Given the description of an element on the screen output the (x, y) to click on. 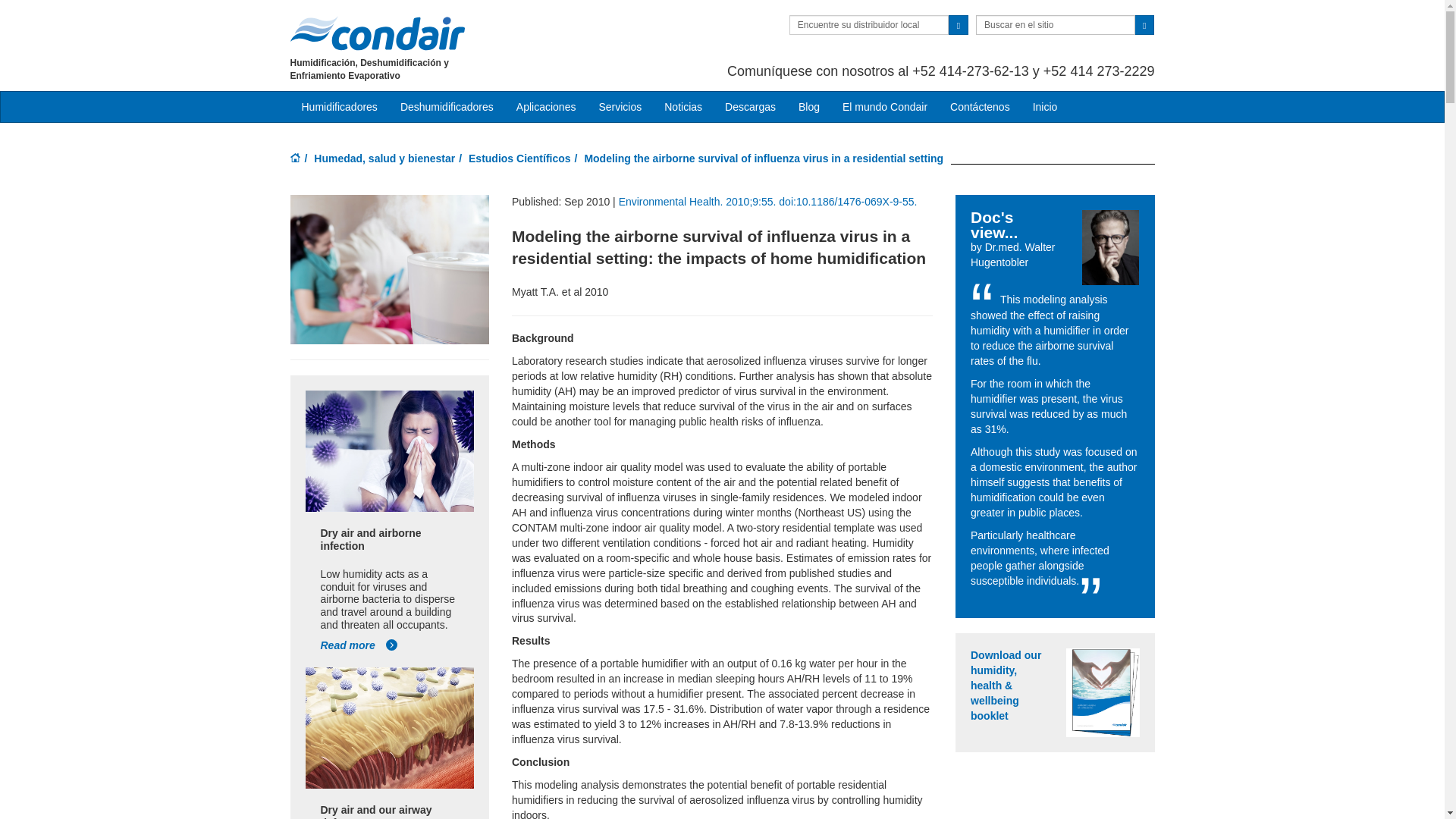
Deshumidificadores (446, 106)
Condair (376, 32)
Humidificadores (338, 106)
